Given the description of an element on the screen output the (x, y) to click on. 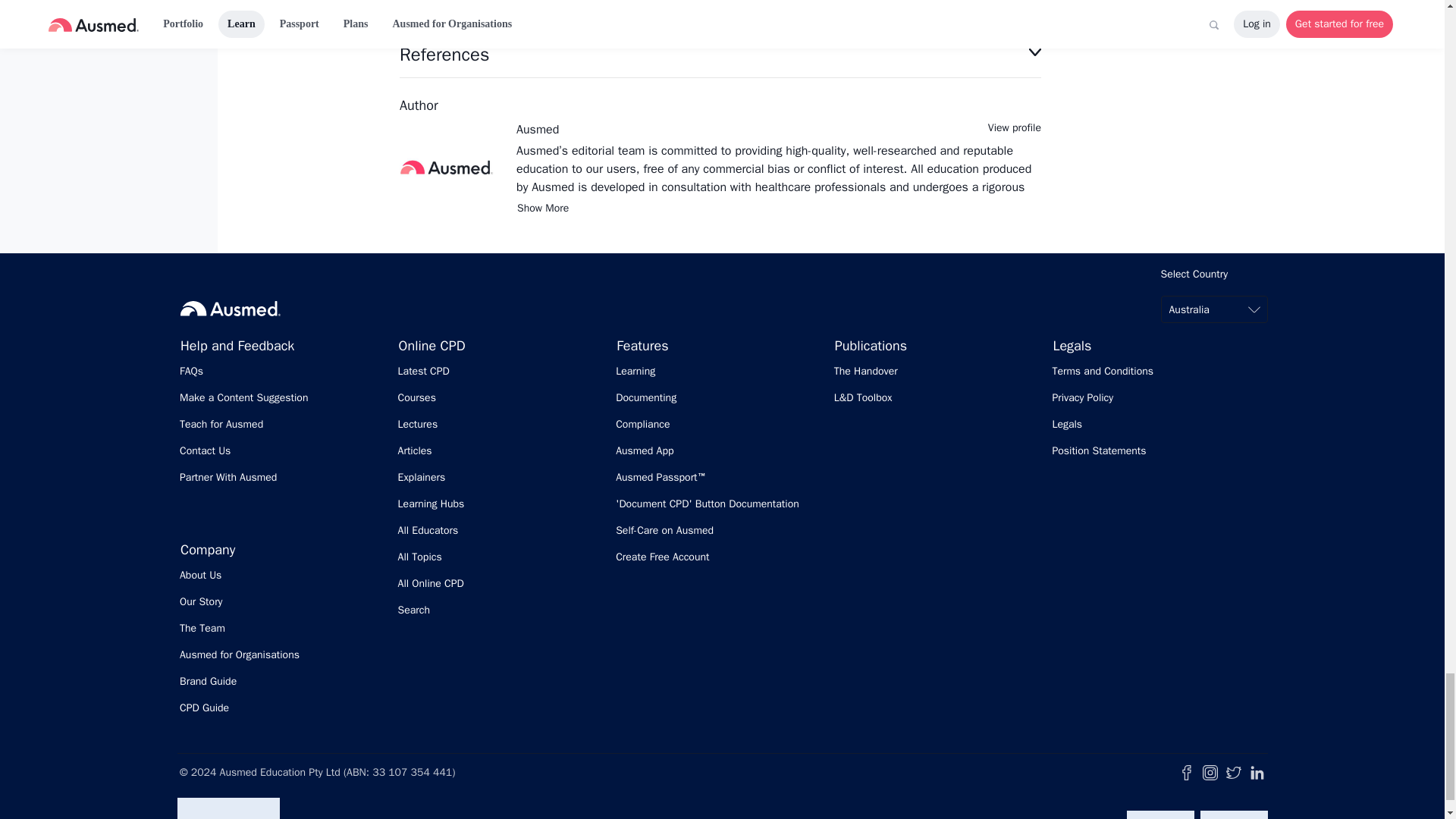
Ausmed (537, 129)
Ausmed Home (230, 307)
View profile (1014, 127)
